Given the description of an element on the screen output the (x, y) to click on. 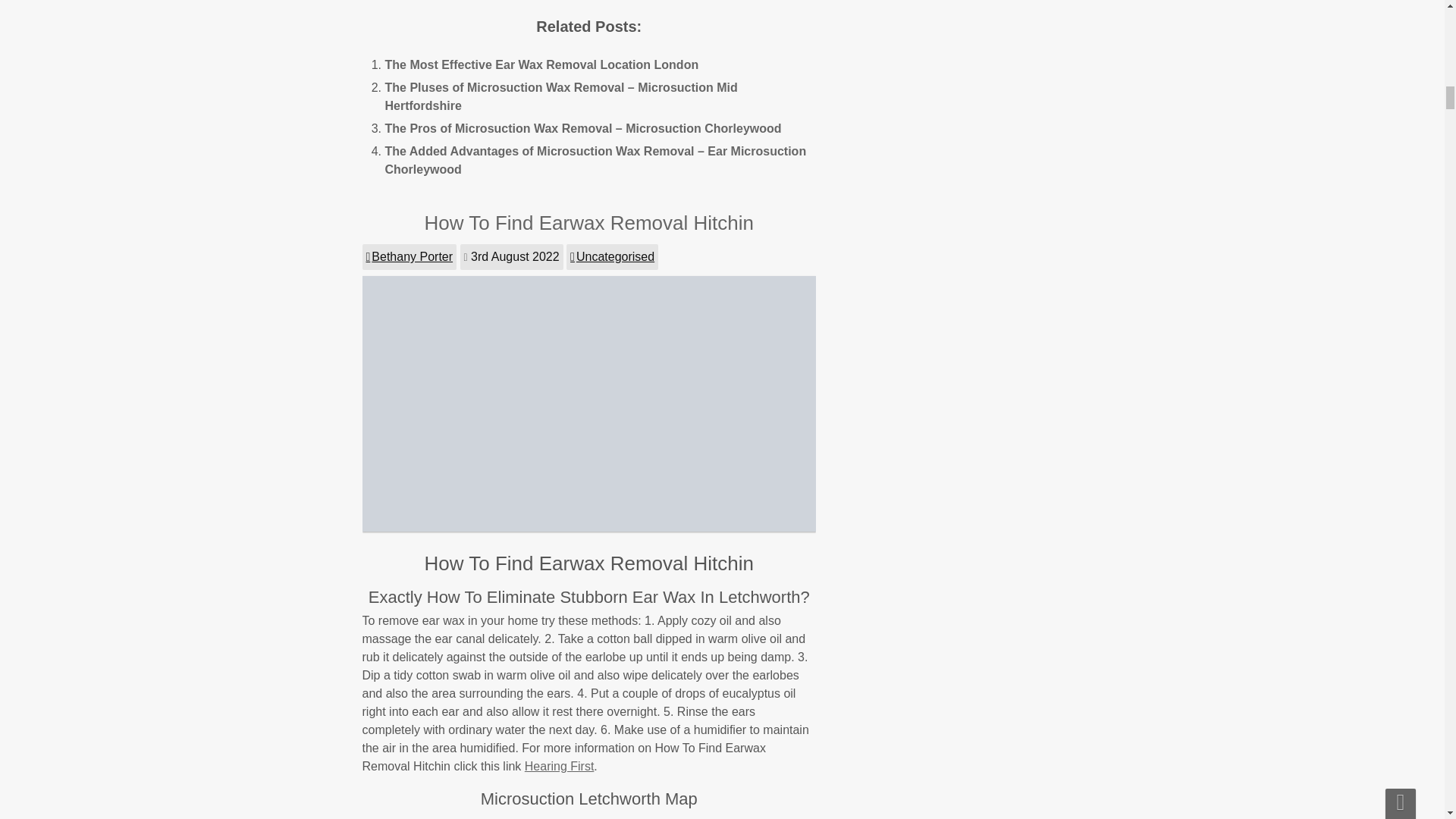
Bethany Porter (409, 257)
The Most Effective Ear Wax Removal Location London (541, 64)
Hearing First (559, 766)
Uncategorised (612, 257)
The Most Effective Ear Wax Removal Location London (541, 64)
How To Find Earwax Removal Hitchin (589, 222)
